Given the description of an element on the screen output the (x, y) to click on. 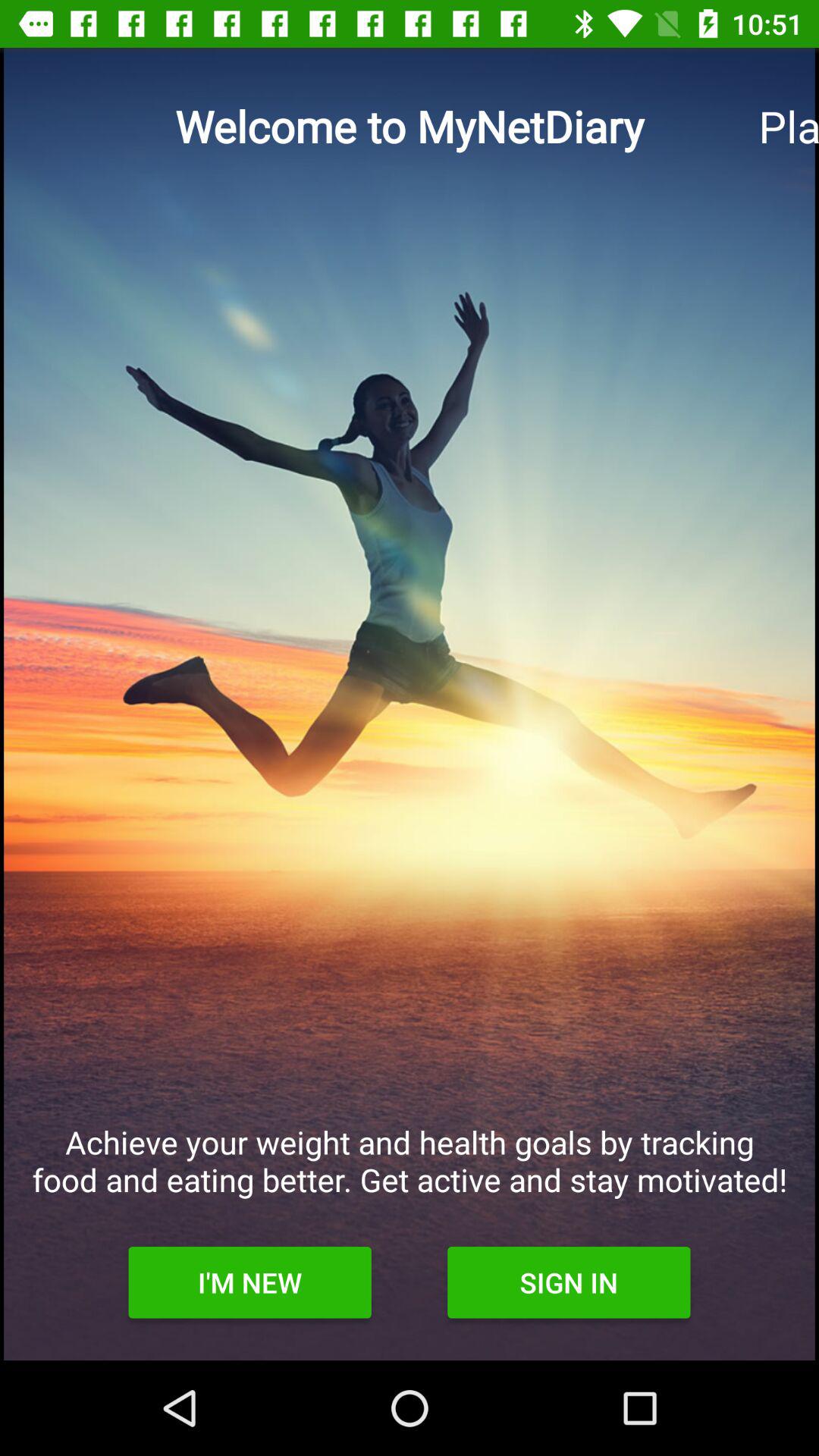
scroll until sign in item (568, 1282)
